Given the description of an element on the screen output the (x, y) to click on. 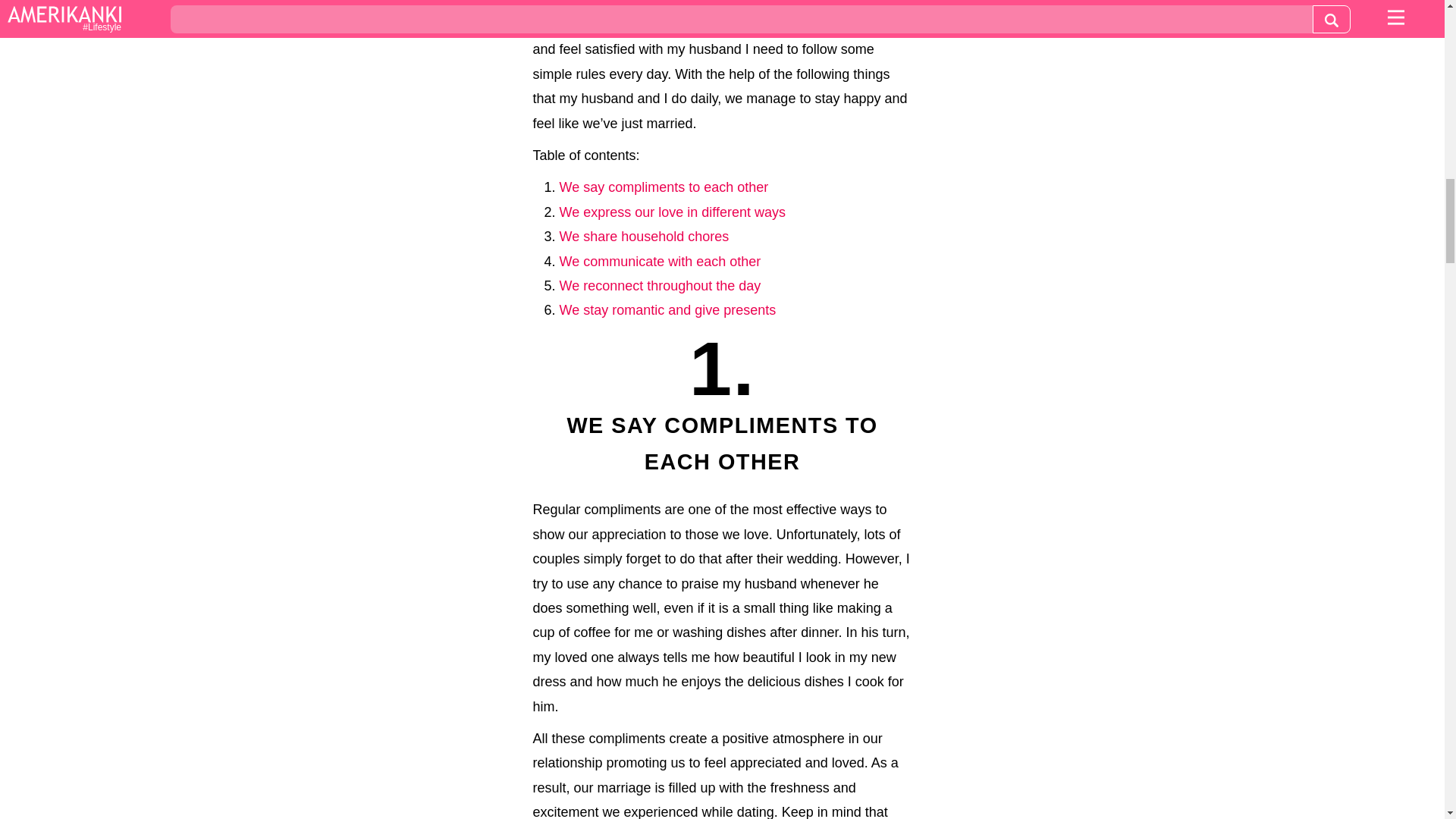
We express our love in different ways (672, 212)
We say compliments to each other (663, 186)
We communicate with each other (660, 261)
We stay romantic and give presents (667, 309)
We share household chores (644, 236)
We reconnect throughout the day (660, 285)
